Given the description of an element on the screen output the (x, y) to click on. 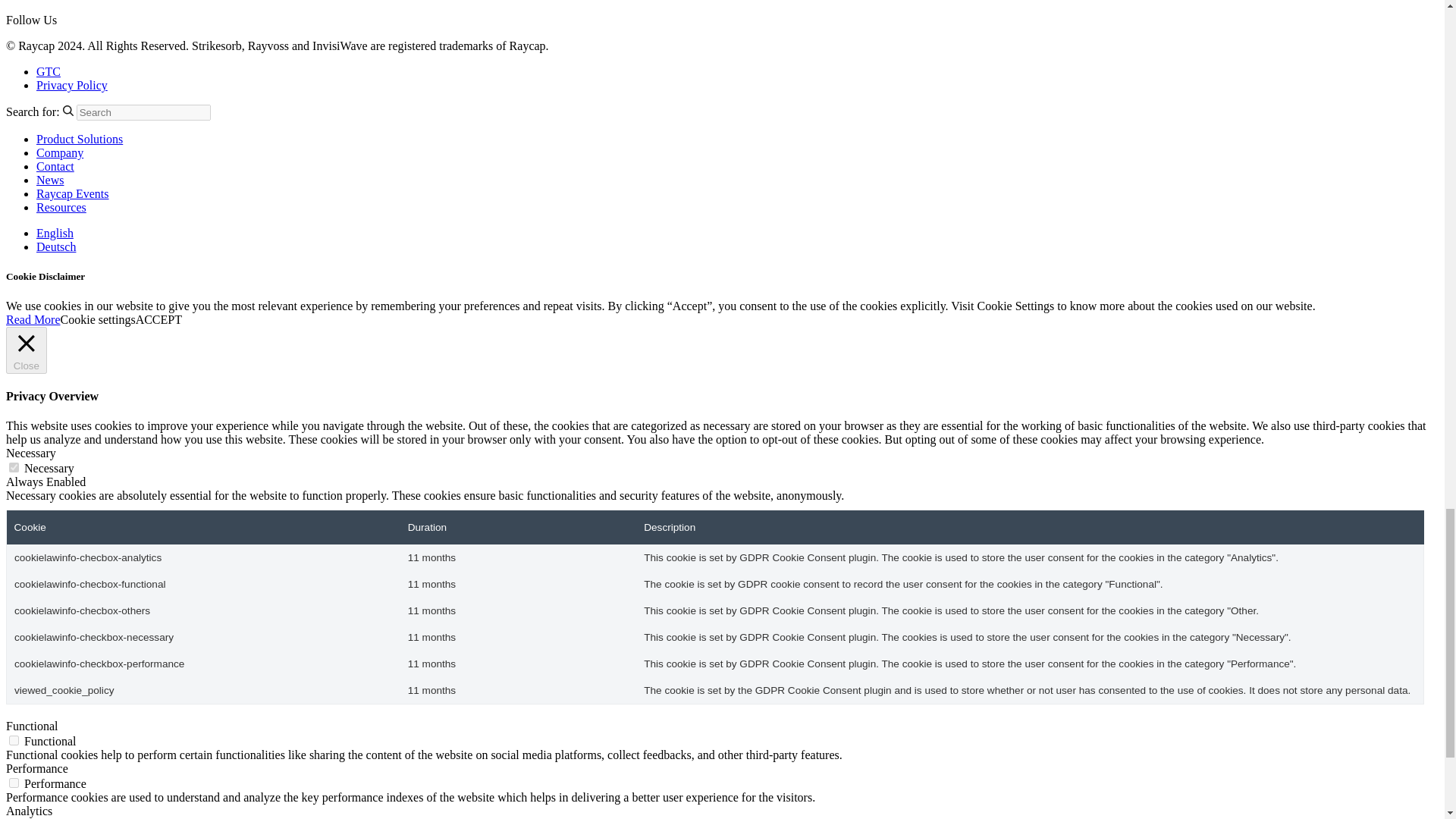
on (13, 467)
on (13, 782)
Fill 1 (68, 110)
on (13, 740)
